Given the description of an element on the screen output the (x, y) to click on. 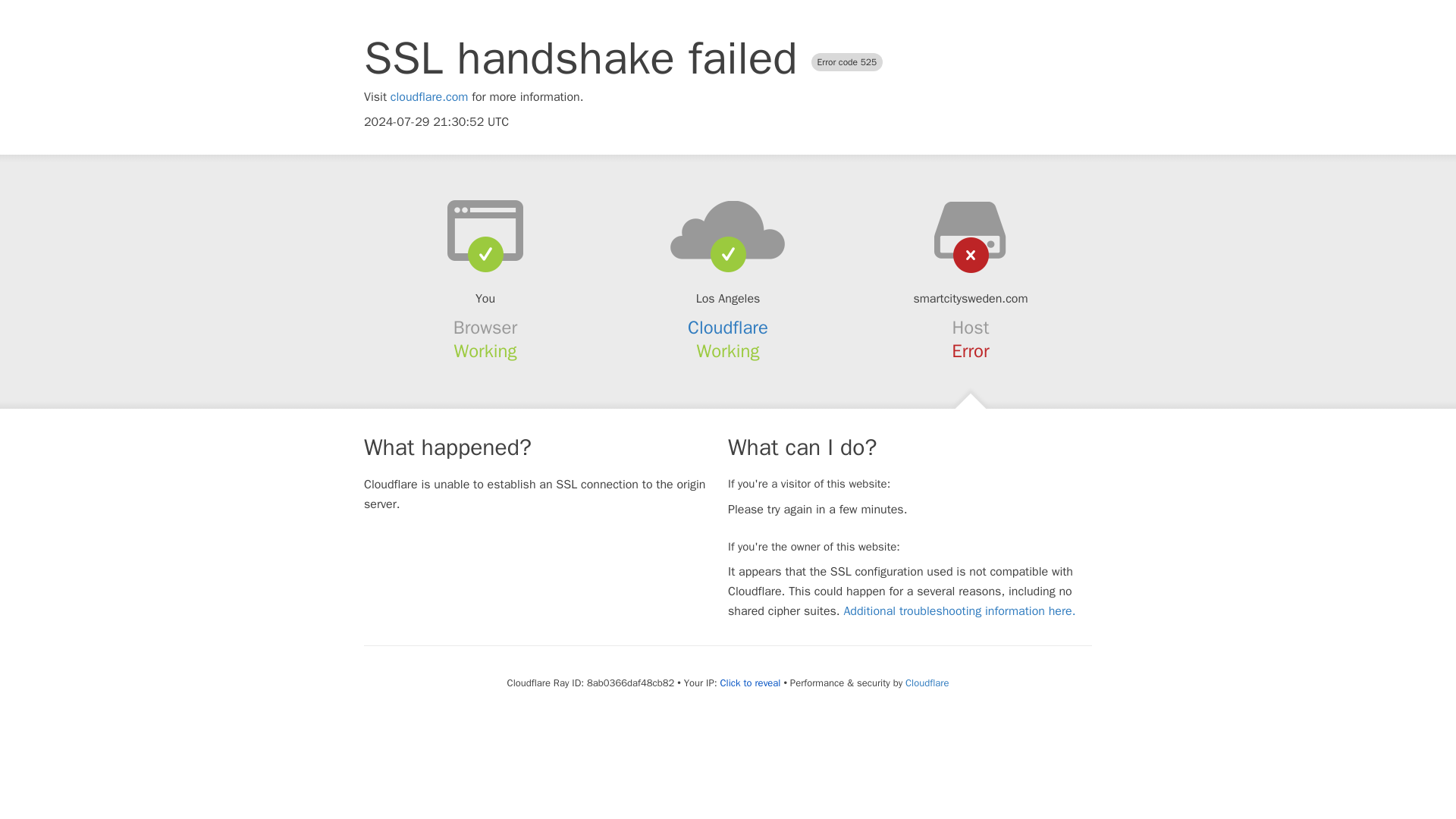
Click to reveal (750, 683)
cloudflare.com (429, 96)
Cloudflare (727, 327)
Cloudflare (927, 682)
Additional troubleshooting information here. (959, 611)
